Given the description of an element on the screen output the (x, y) to click on. 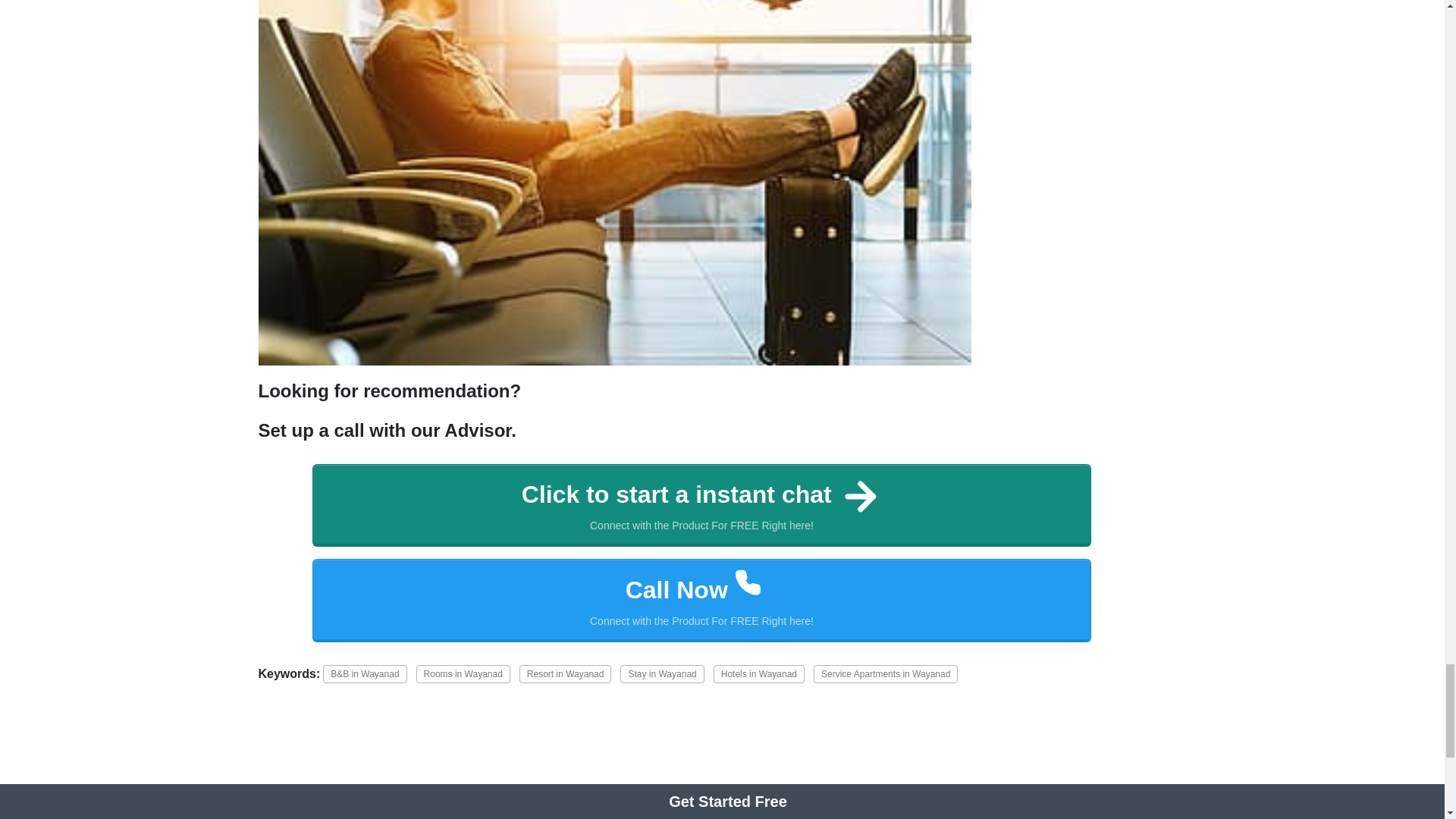
Hotels in Wayanad (702, 600)
Resort in Wayanad (759, 674)
Stay in Wayanad (565, 674)
Service Apartments in Wayanad (661, 674)
Rooms in Wayanad (885, 674)
